Given the description of an element on the screen output the (x, y) to click on. 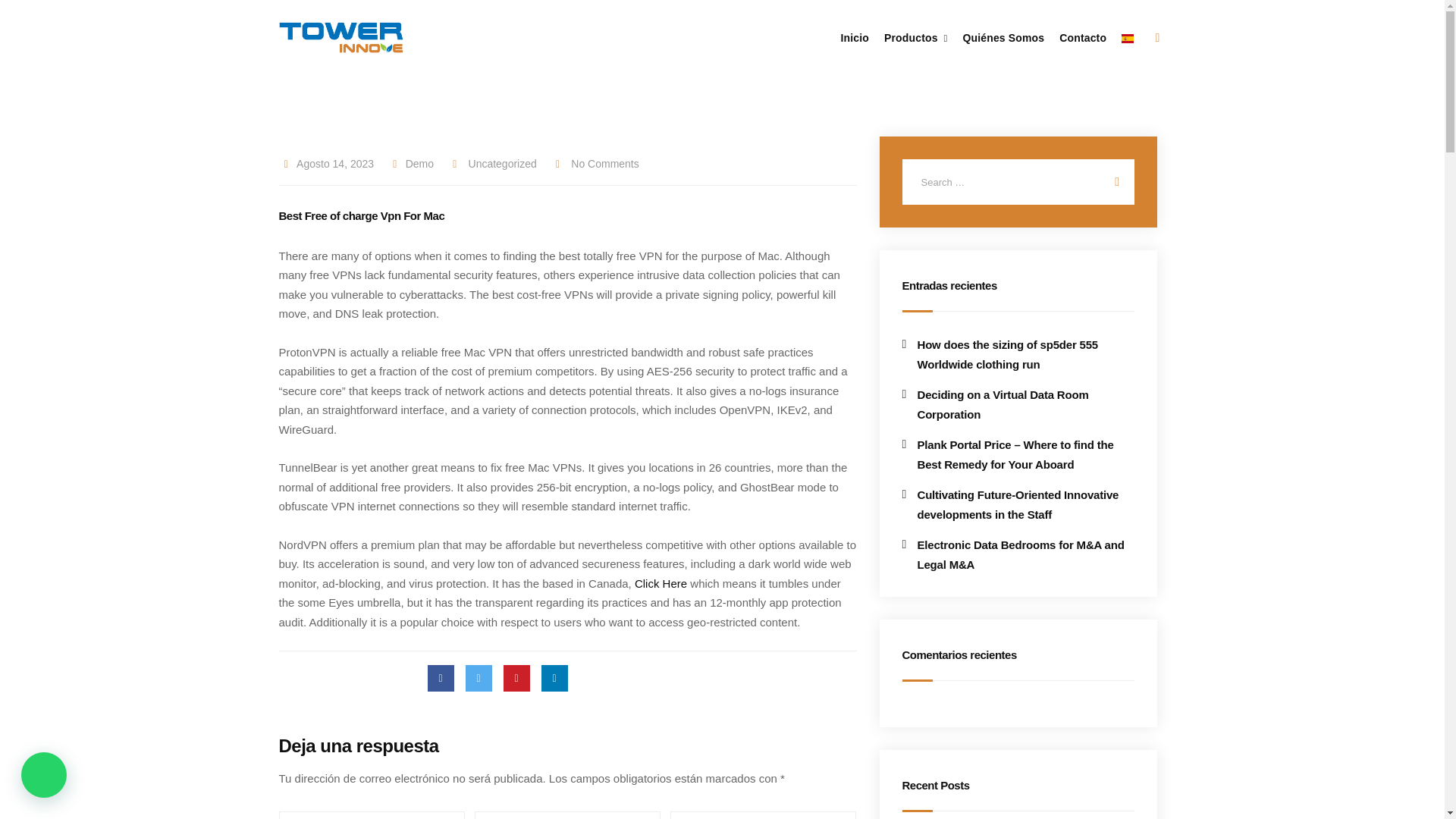
Tower Innove S.L (341, 37)
